Given the description of an element on the screen output the (x, y) to click on. 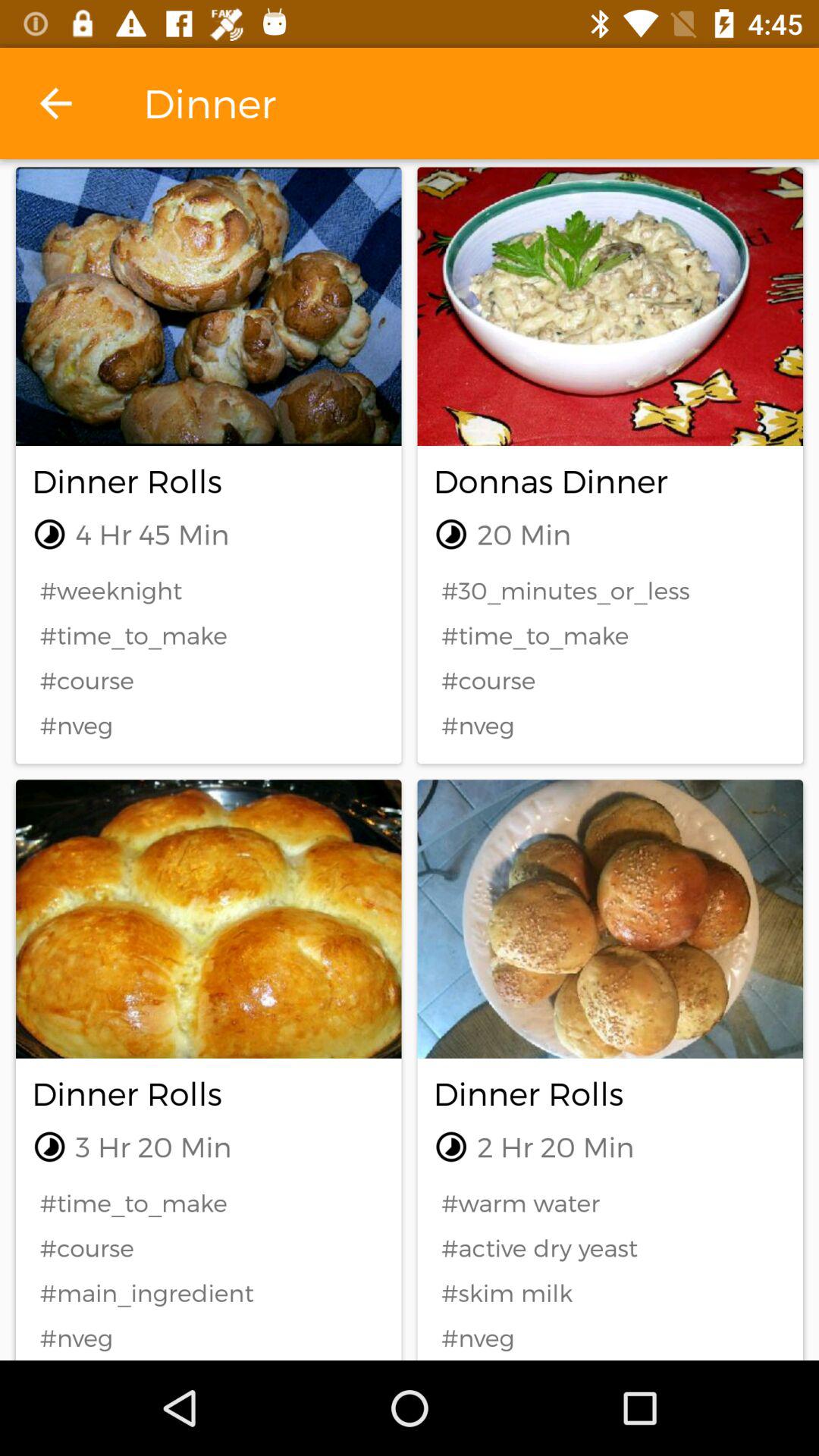
choose the item to the right of the #course (610, 1292)
